Given the description of an element on the screen output the (x, y) to click on. 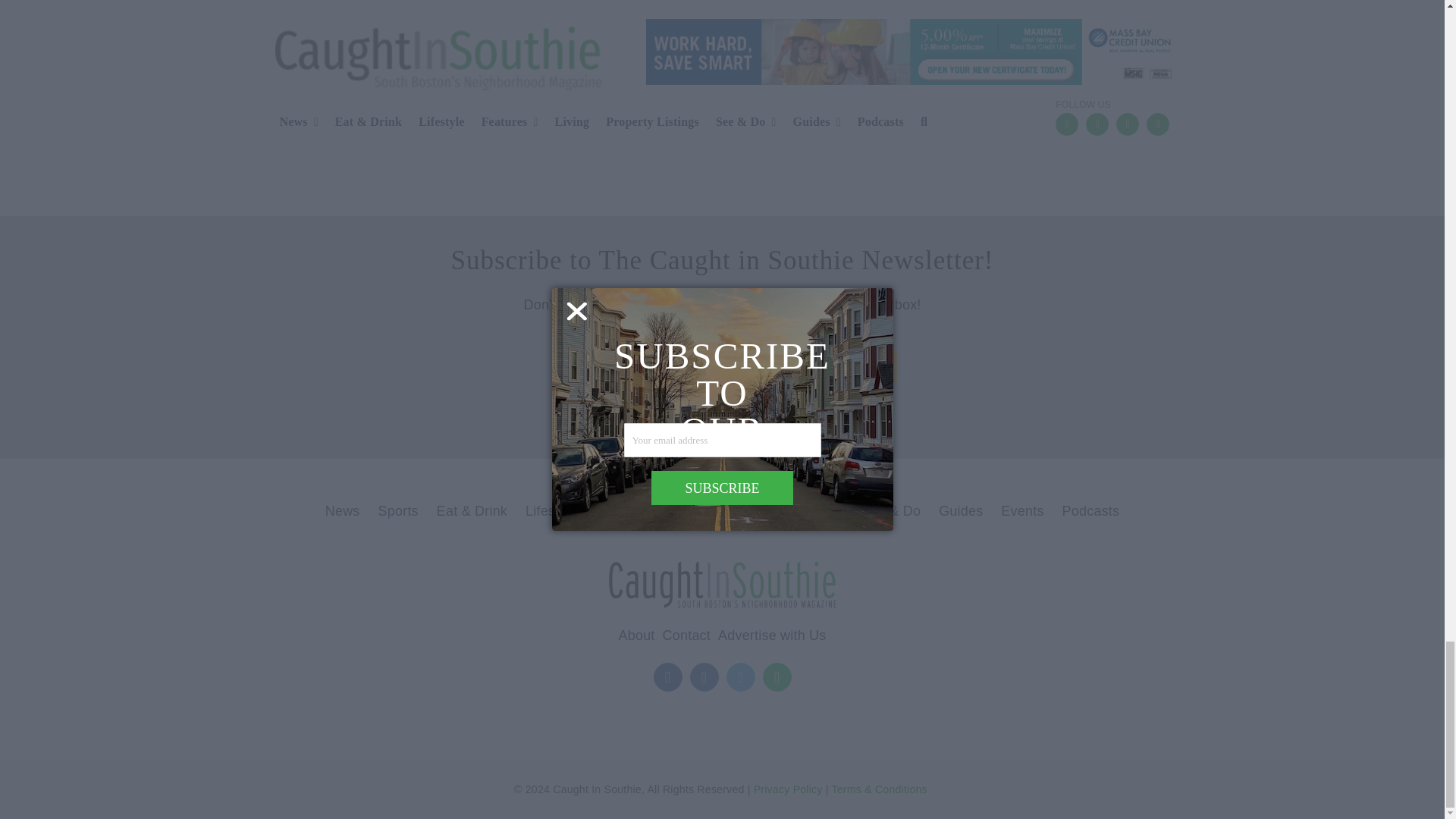
Subscribe (838, 365)
